Given the description of an element on the screen output the (x, y) to click on. 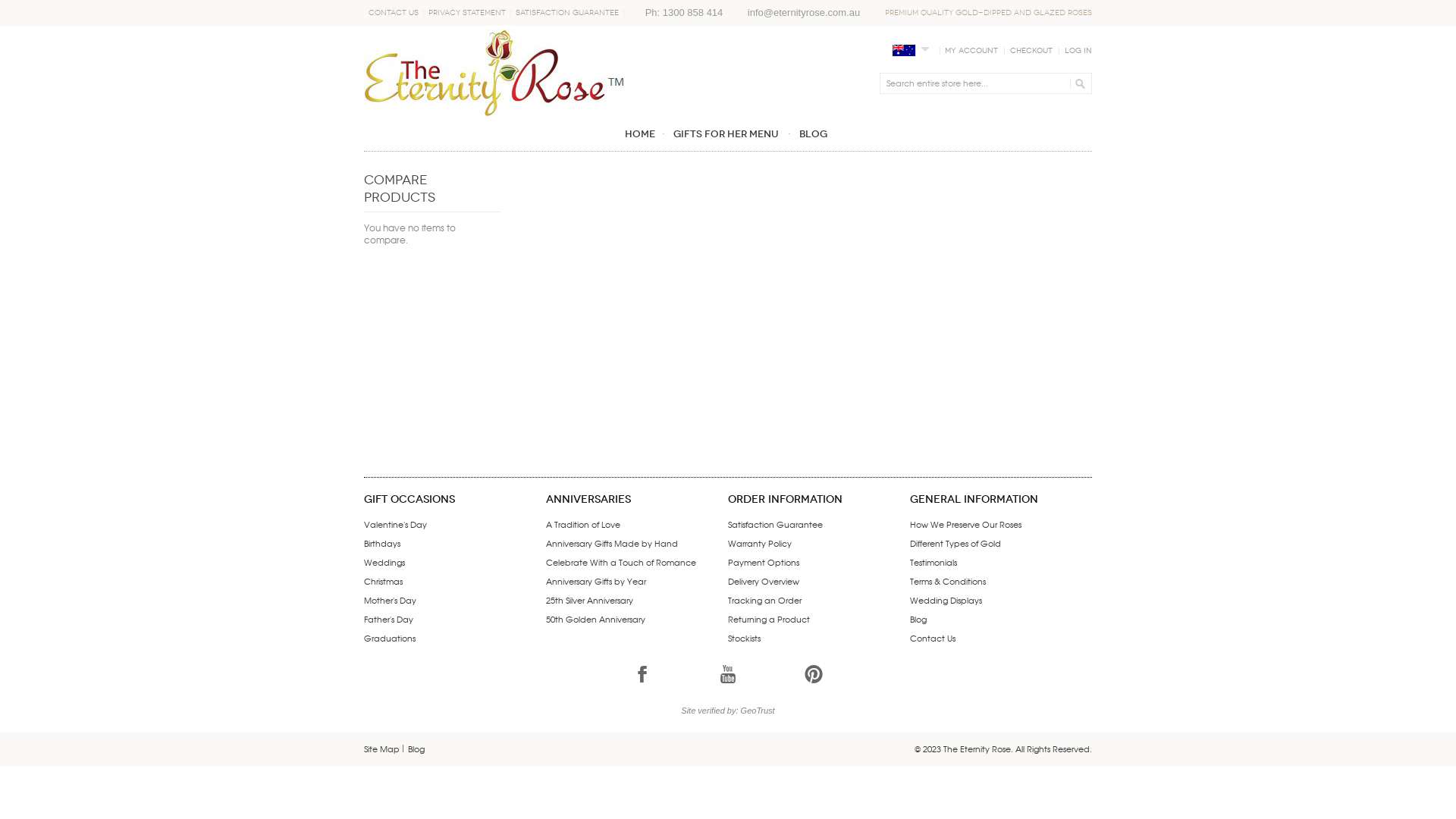
Warranty Policy Element type: text (759, 542)
Valentine's Day Element type: text (395, 523)
Stockists Element type: text (744, 637)
Christmas Element type: text (383, 580)
Different Types of Gold Element type: text (955, 542)
1 Element type: text (641, 673)
Satisfaction Guarantee Element type: text (775, 523)
A Tradition of Love Element type: text (583, 523)
Satisfaction Guarantee Element type: text (566, 12)
6 Element type: text (813, 673)
Site Map Element type: text (381, 748)
Wedding Displays Element type: text (946, 599)
Anniversary Gifts Made by Hand Element type: text (611, 542)
Graduations Element type: text (389, 637)
Testimonials Element type: text (933, 561)
How We Preserve Our Roses Element type: text (965, 523)
Contact Us Element type: text (393, 12)
Delivery Overview Element type: text (763, 580)
Tracking an Order Element type: text (764, 599)
Celebrate With a Touch of Romance Element type: text (621, 561)
Returning a Product Element type: text (768, 618)
Contact Us Element type: text (932, 637)
7 Element type: text (727, 673)
The Eternity Rose - A unique gift for her Element type: hover (494, 72)
GO Element type: text (1077, 83)
Privacy Statement Element type: text (466, 12)
Anniversary Gifts by Year Element type: text (596, 580)
Mother's Day Element type: text (390, 599)
Birthdays Element type: text (382, 542)
Log In Element type: text (1078, 50)
25th Silver Anniversary Element type: text (589, 599)
info@eternityrose.com.au Element type: text (803, 12)
GIFTS FOR HER MENU Element type: text (725, 133)
My Account Element type: text (970, 50)
Checkout Element type: text (1031, 50)
Blog Element type: text (812, 133)
Father's Day Element type: text (388, 618)
Blog Element type: text (918, 618)
Weddings Element type: text (384, 561)
Blog Element type: text (415, 748)
Payment Options Element type: text (763, 561)
Terms & Conditions Element type: text (947, 580)
Home Element type: text (641, 133)
50th Golden Anniversary Element type: text (595, 618)
